Given the description of an element on the screen output the (x, y) to click on. 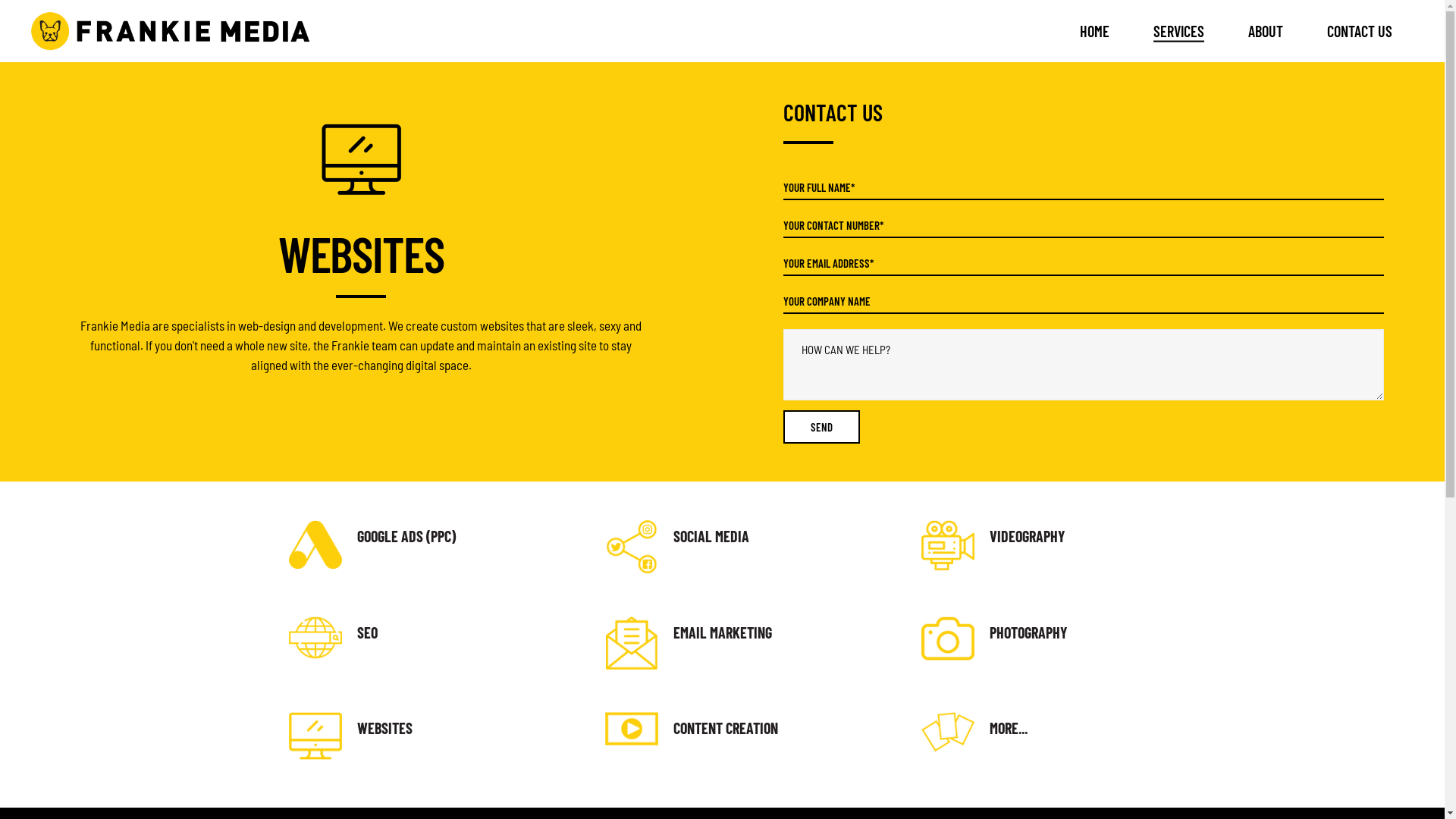
PHOTOGRAPHY Element type: text (1027, 632)
EMAIL MARKETING Element type: text (722, 632)
CONTENT CREATION Element type: text (725, 727)
GOOGLE ADS (PPC) Element type: text (405, 536)
MORE... Element type: text (1008, 727)
SEND Element type: text (820, 426)
SERVICES Element type: text (1178, 31)
VIDEOGRAPHY Element type: text (1026, 536)
ABOUT Element type: text (1265, 31)
HOME Element type: text (1094, 31)
SEO Element type: text (366, 632)
CONTACT US Element type: text (1359, 31)
WEBSITES Element type: text (383, 727)
SOCIAL MEDIA Element type: text (711, 536)
